Given the description of an element on the screen output the (x, y) to click on. 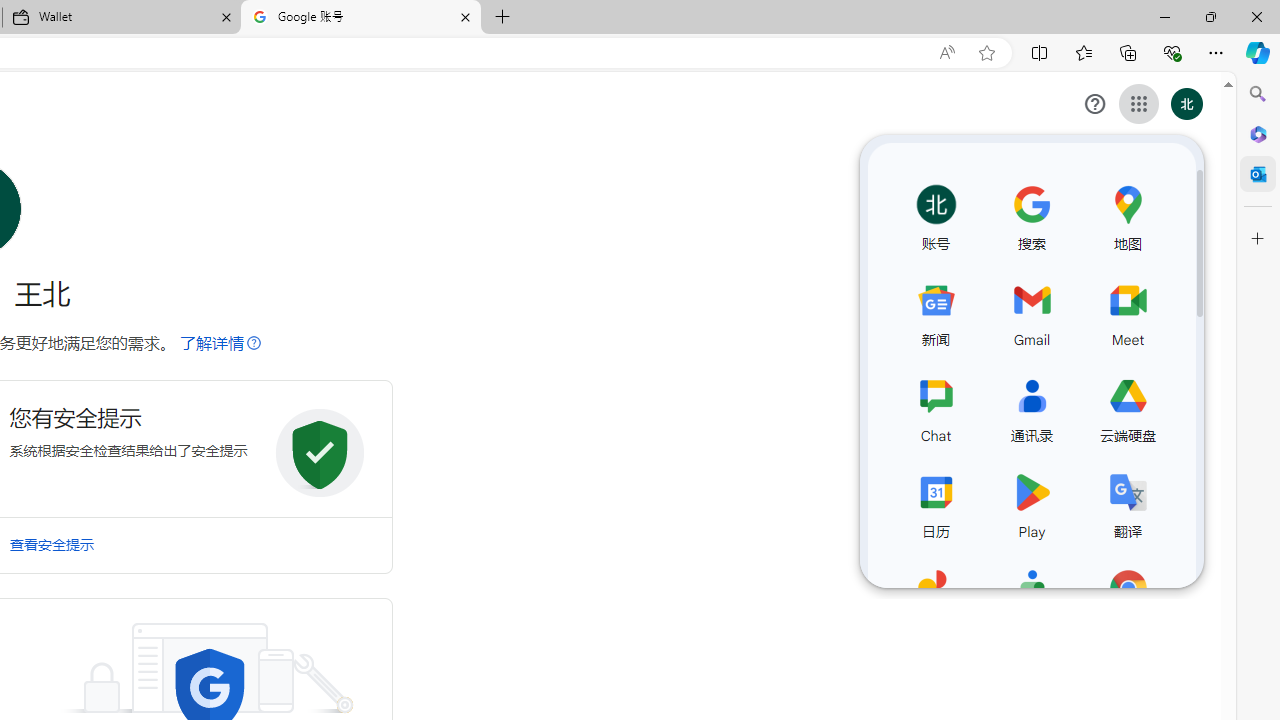
Class: gb_E (1138, 103)
Chat (936, 407)
